Given the description of an element on the screen output the (x, y) to click on. 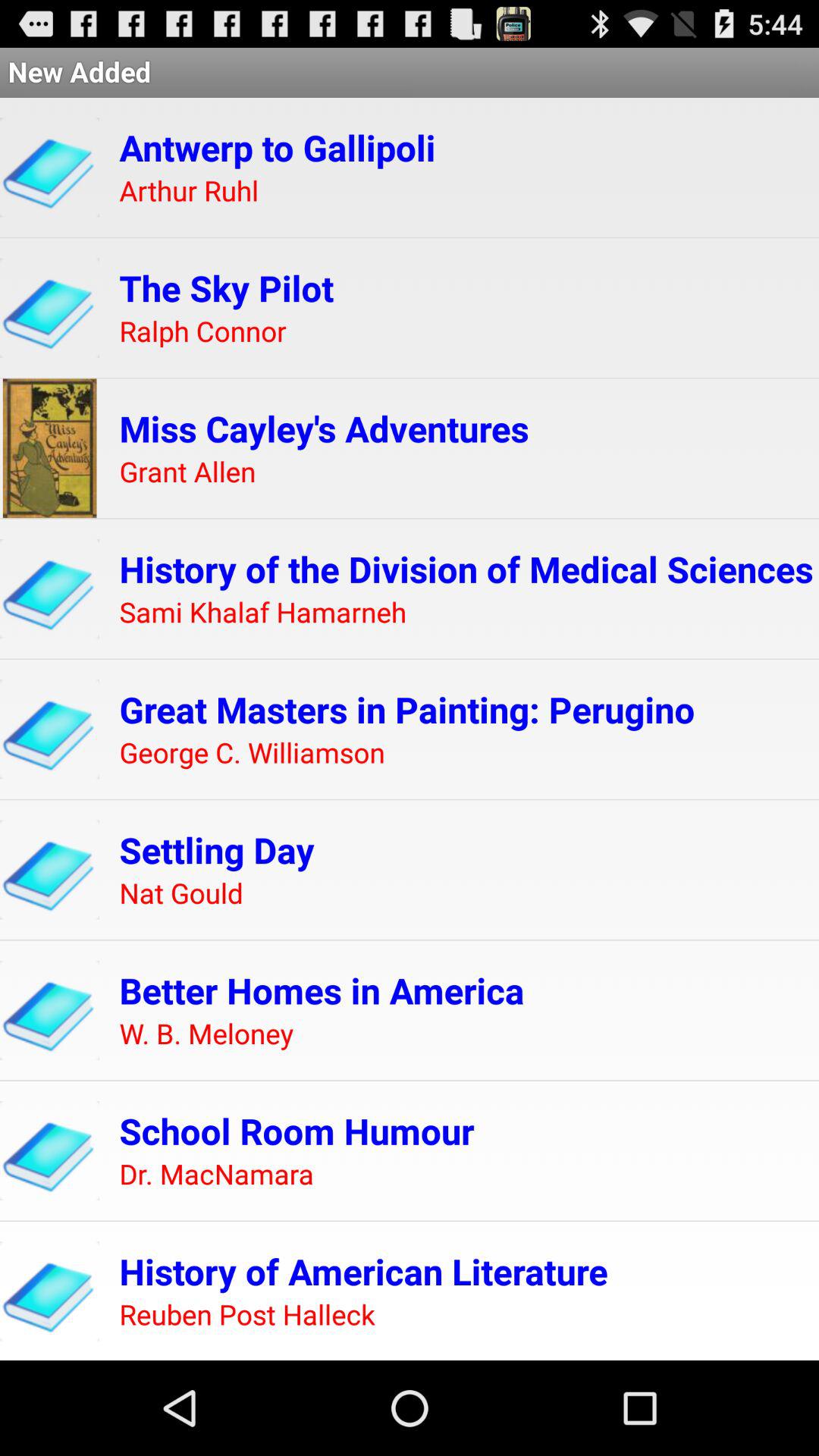
scroll until the school room humour (296, 1130)
